Given the description of an element on the screen output the (x, y) to click on. 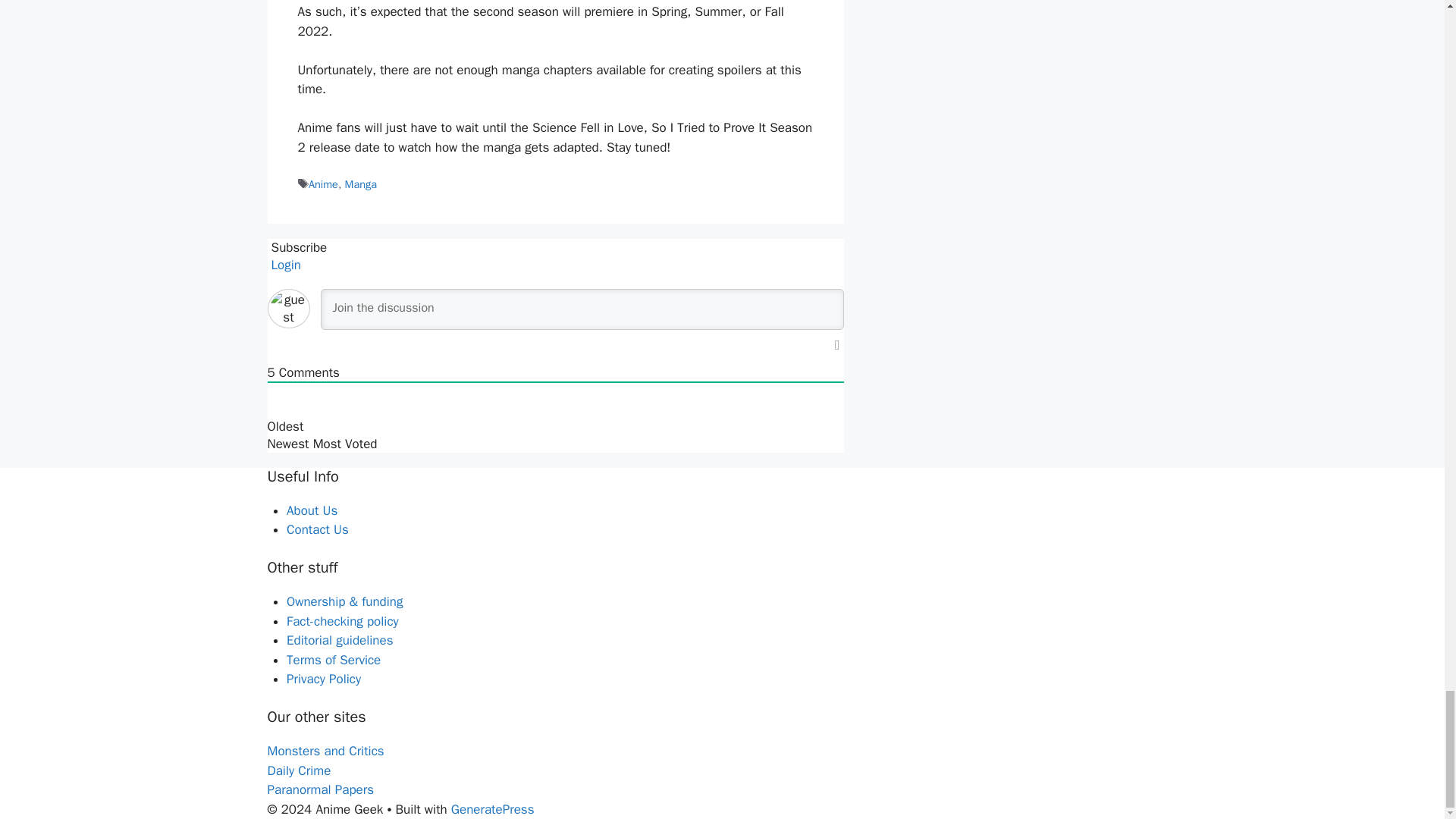
Login (283, 264)
Manga (361, 183)
Anime (322, 183)
